Given the description of an element on the screen output the (x, y) to click on. 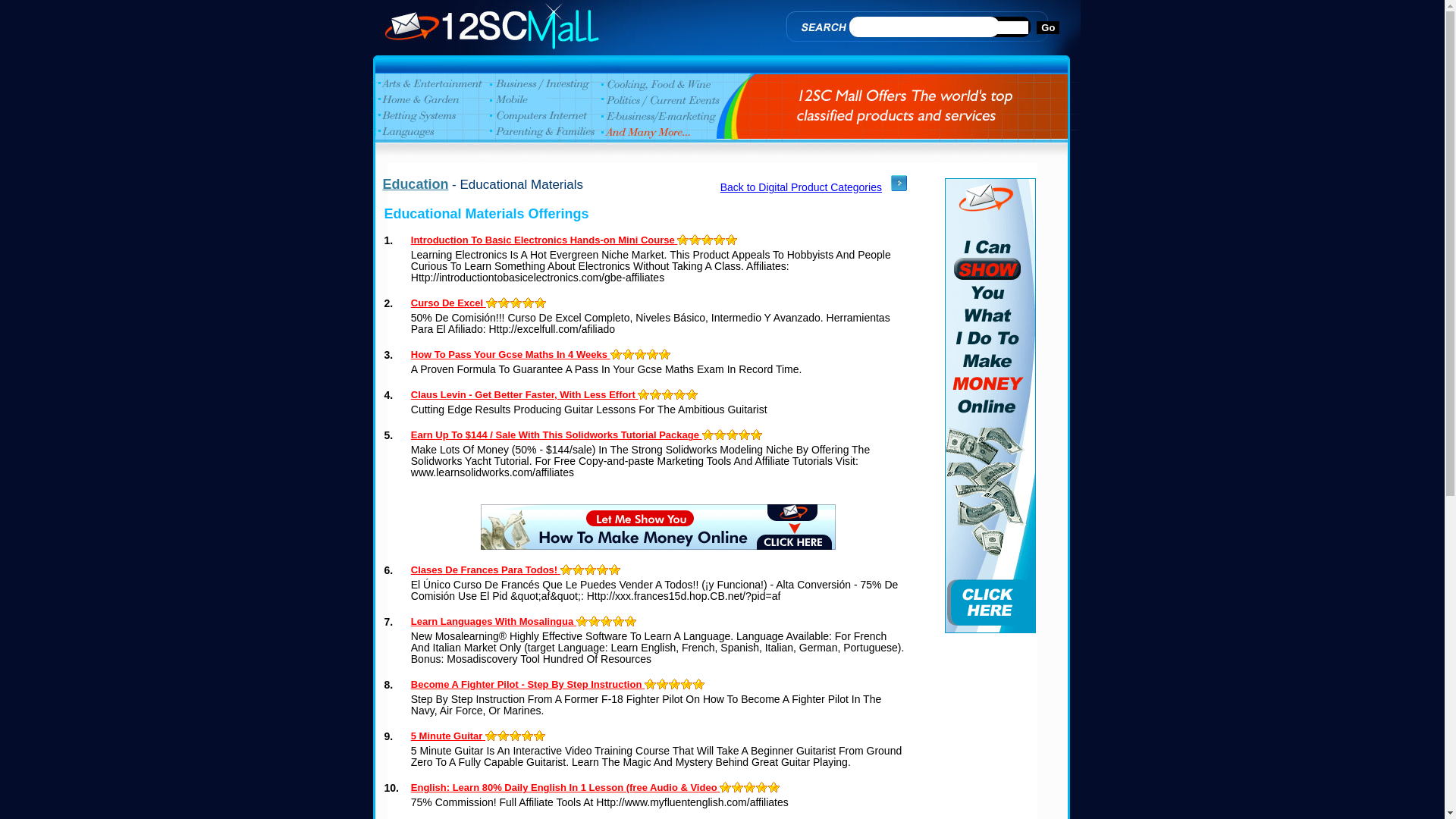
recommended Element type: hover (762, 787)
recommended Element type: hover (664, 354)
recommended Element type: hover (652, 354)
Become A Fighter Pilot - Step By Step Instruction Element type: text (558, 684)
recommended Element type: hover (708, 434)
recommended Element type: hover (650, 684)
recommended Element type: hover (540, 302)
recommended Element type: hover (674, 684)
recommended Element type: hover (774, 787)
recommended Element type: hover (737, 787)
recommended Element type: hover (606, 621)
recommended Element type: hover (699, 684)
recommended Element type: hover (516, 302)
Back to Digital Product Categories Element type: text (800, 187)
recommended Element type: hover (643, 394)
recommended Element type: hover (504, 302)
recommended Element type: hover (590, 569)
recommended Element type: hover (720, 434)
recommended Element type: hover (662, 684)
recommended Element type: hover (616, 354)
recommended Element type: hover (527, 735)
recommended Element type: hover (655, 394)
recommended Element type: hover (692, 394)
recommended Element type: hover (756, 434)
recommended Element type: hover (628, 354)
recommended Element type: hover (515, 735)
recommended Element type: hover (695, 239)
Go Element type: text (1047, 27)
recommended Element type: hover (539, 735)
recommended Element type: hover (630, 621)
recommended Element type: hover (707, 239)
recommended Element type: hover (503, 735)
recommended Element type: hover (594, 621)
recommended Element type: hover (528, 302)
recommended Element type: hover (725, 787)
recommended Element type: hover (668, 394)
recommended Element type: hover (618, 621)
recommended Element type: hover (566, 569)
recommended Element type: hover (744, 434)
Go To Next Page Element type: hover (898, 187)
Earn Up To $144 / Sale With This Solidworks Tutorial Package Element type: text (586, 434)
Clases De Frances Para Todos! Element type: text (516, 569)
recommended Element type: hover (640, 354)
recommended Element type: hover (614, 569)
Claus Levin - Get Better Faster, With Less Effort Element type: text (555, 394)
Learn Languages With Mosalingua Element type: text (524, 621)
recommended Element type: hover (492, 302)
recommended Element type: hover (491, 735)
recommended Element type: hover (732, 434)
5 Minute Guitar Element type: text (478, 735)
recommended Element type: hover (731, 239)
Education Element type: text (415, 183)
recommended Element type: hover (582, 621)
recommended Element type: hover (680, 394)
How To Pass Your Gcse Maths In 4 Weeks Element type: text (541, 354)
Introduction To Basic Electronics Hands-on Mini Course Element type: text (574, 239)
recommended Element type: hover (578, 569)
recommended Element type: hover (683, 239)
recommended Element type: hover (749, 787)
recommended Element type: hover (719, 239)
recommended Element type: hover (686, 684)
recommended Element type: hover (602, 569)
Curso De Excel Element type: text (478, 302)
